Given the description of an element on the screen output the (x, y) to click on. 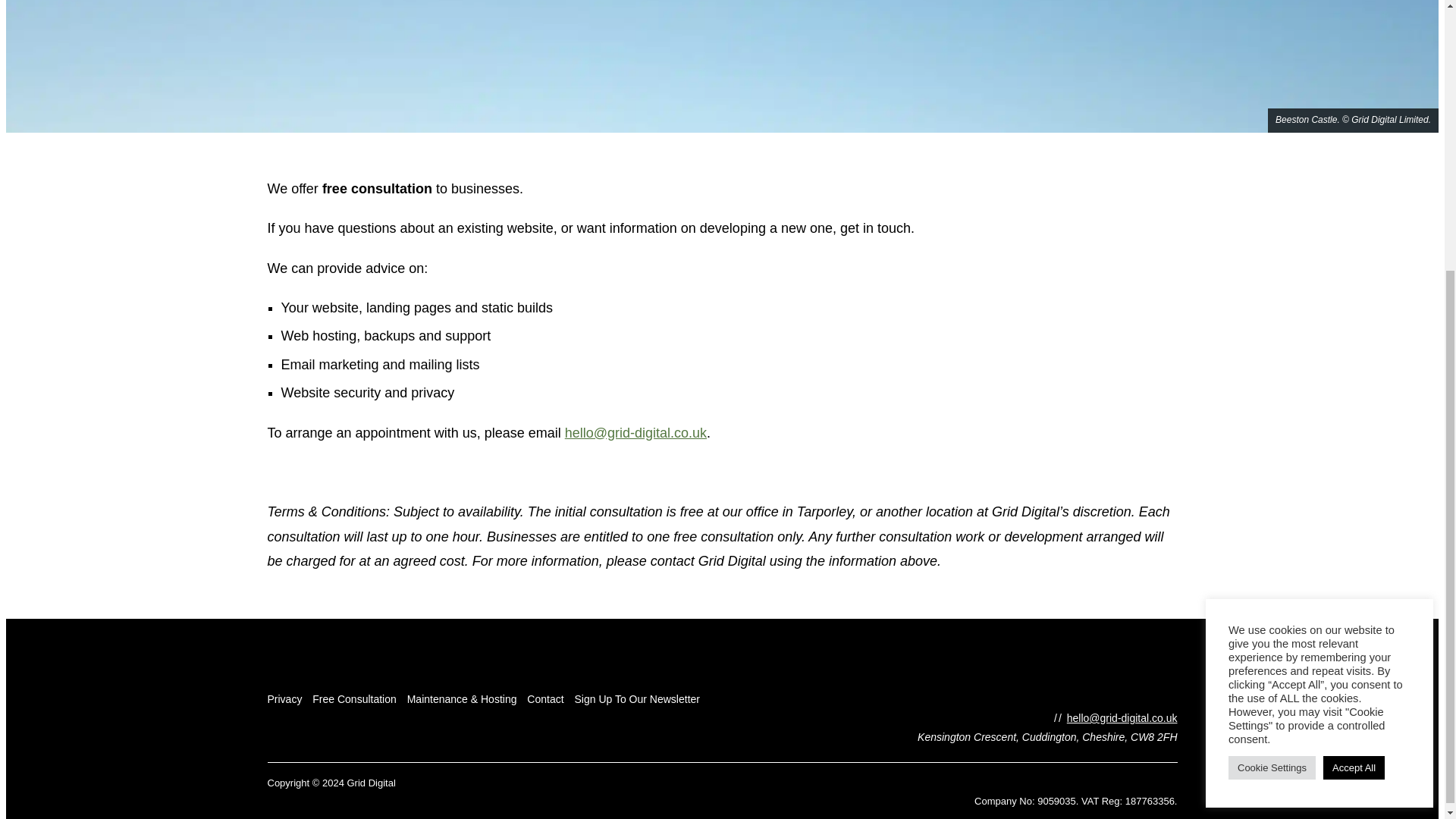
Contact (545, 698)
Accept All (1353, 368)
Sign Up To Our Newsletter (637, 698)
Cookie Settings (1272, 368)
Free Consultation (354, 698)
Privacy (283, 698)
